Given the description of an element on the screen output the (x, y) to click on. 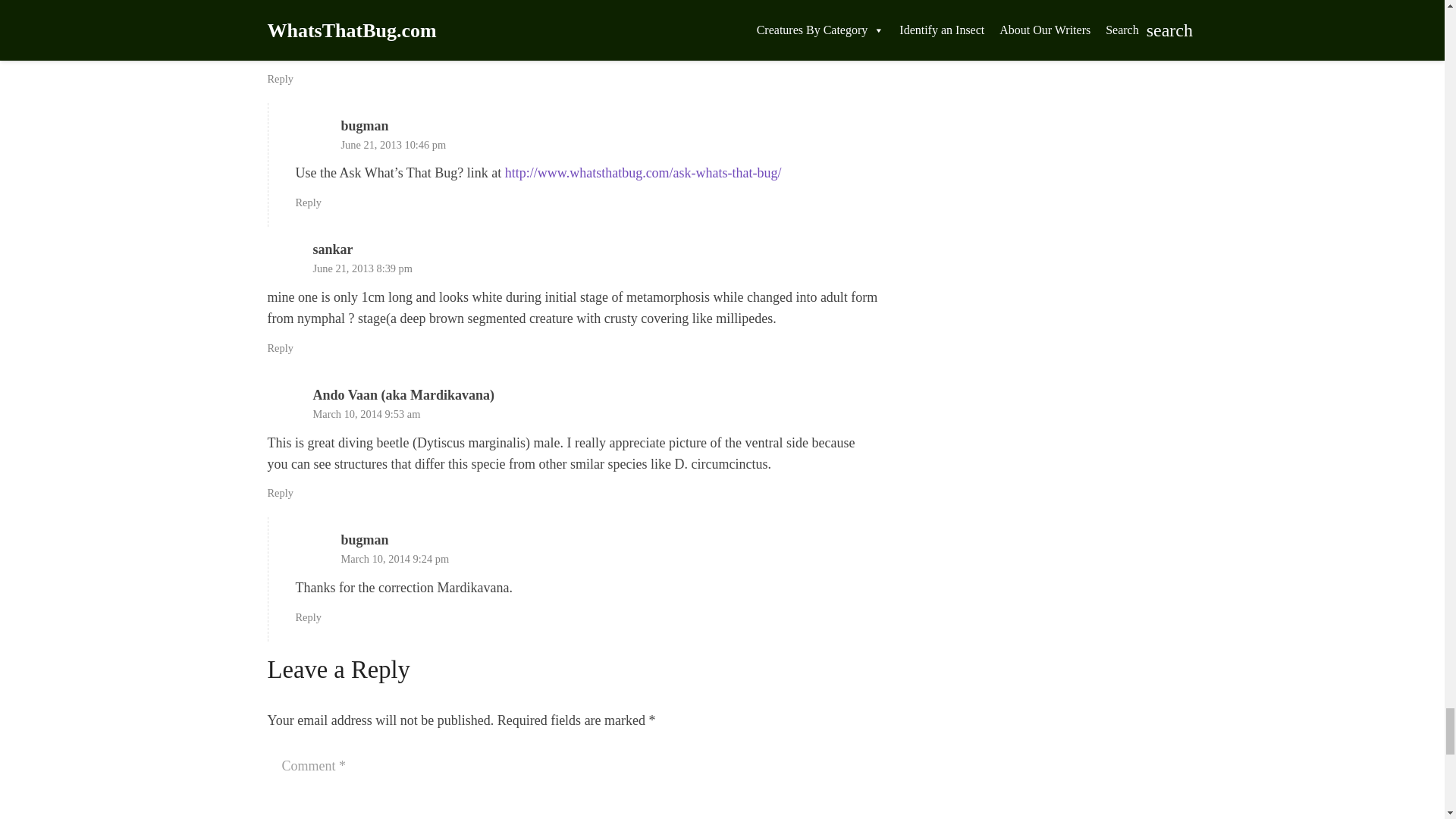
March 10, 2014 9:53 am (366, 413)
March 10, 2014 9:24 pm (394, 558)
June 21, 2013 8:39 pm (362, 268)
June 21, 2013 10:46 pm (393, 144)
